Given the description of an element on the screen output the (x, y) to click on. 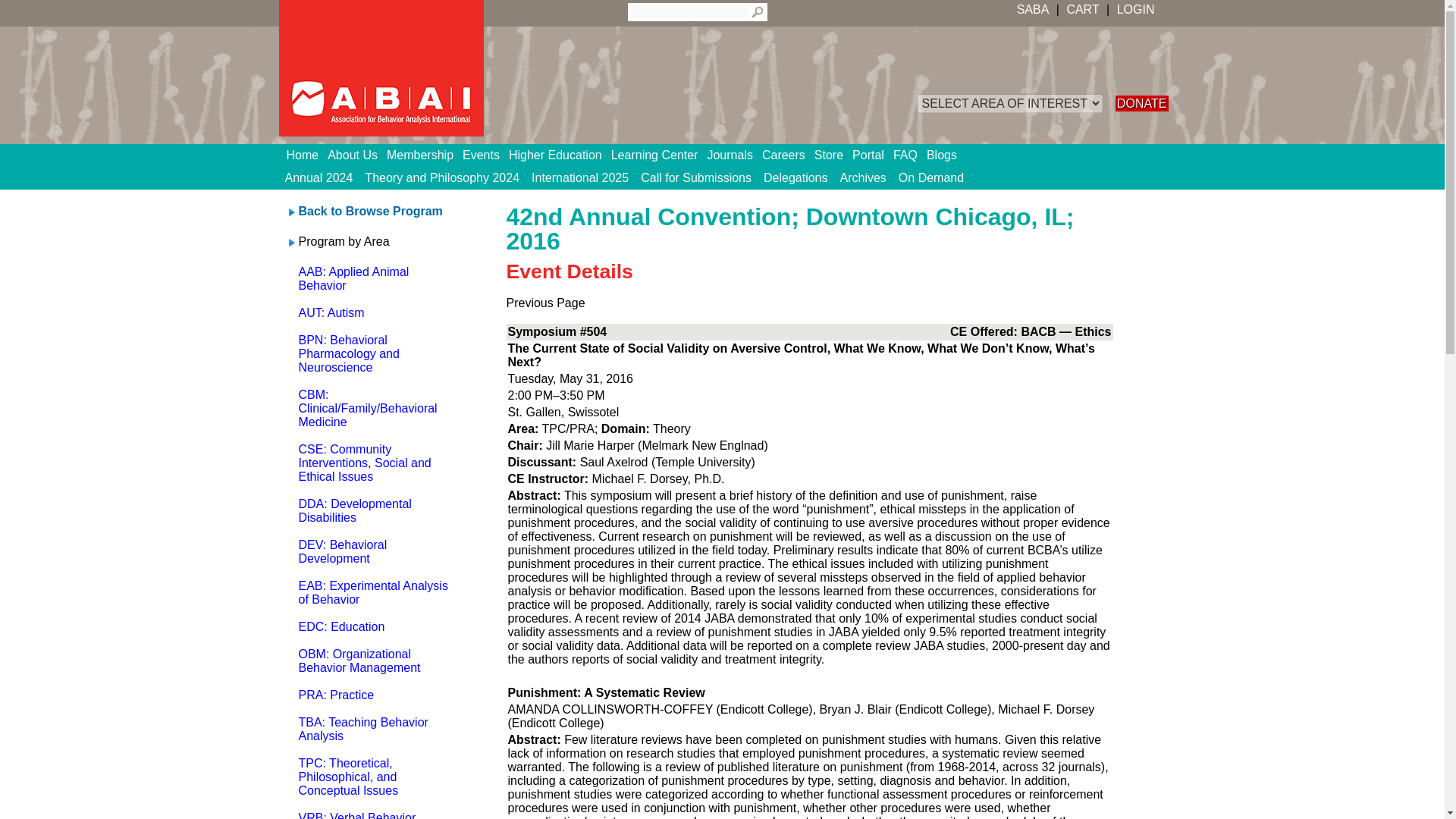
FAQ (909, 155)
Back to Browse Program (370, 210)
Home (307, 155)
LOGIN (1133, 9)
Theory and Philosophy 2024 (441, 178)
SABA (1032, 9)
On Demand (930, 178)
Archives (863, 178)
Higher Education (559, 155)
About Us (357, 155)
Annual 2024 (319, 178)
Delegations (795, 178)
Journals (733, 155)
Back to search (370, 210)
Careers (787, 155)
